Given the description of an element on the screen output the (x, y) to click on. 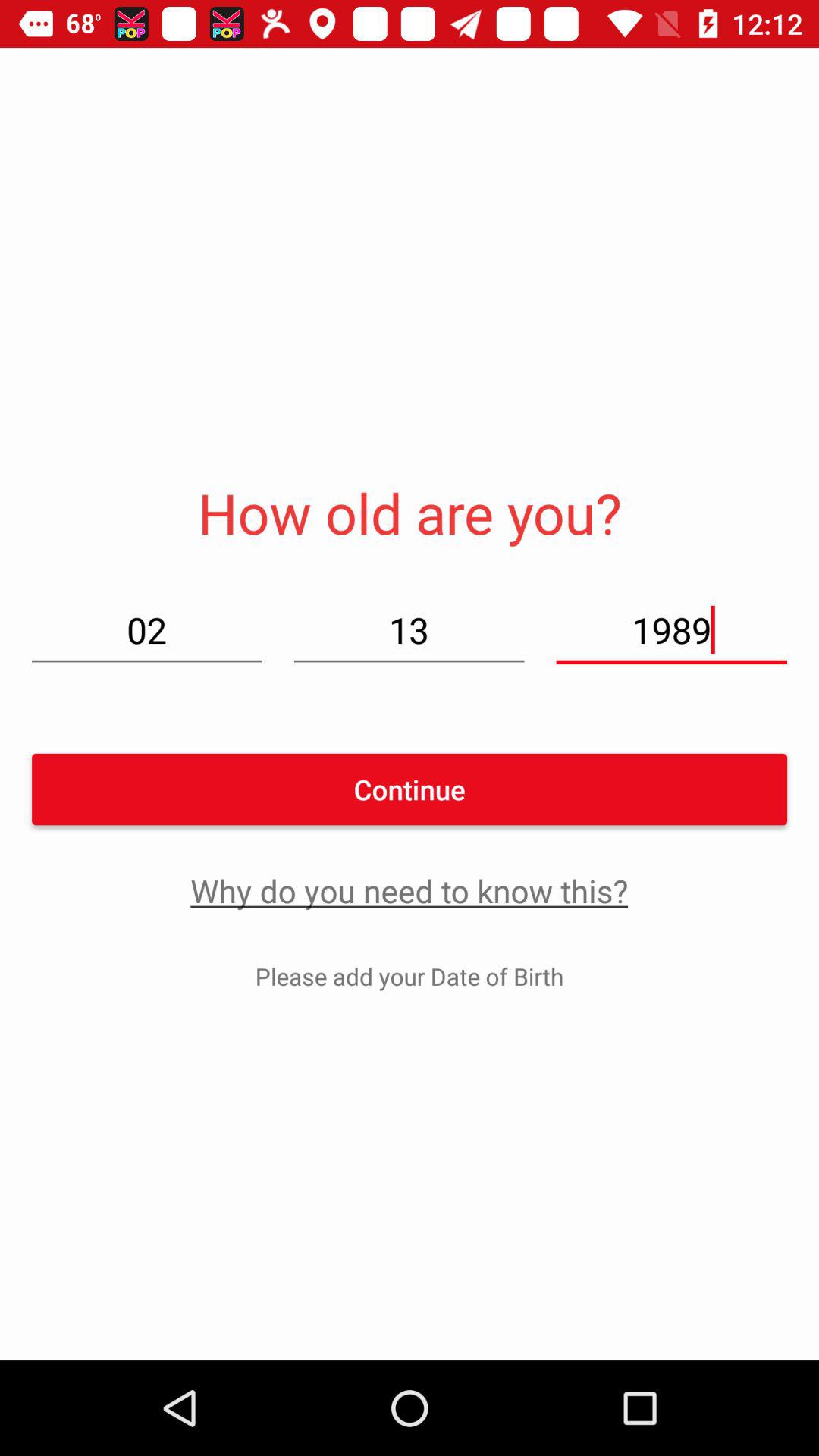
select item next to the 13 item (146, 629)
